Given the description of an element on the screen output the (x, y) to click on. 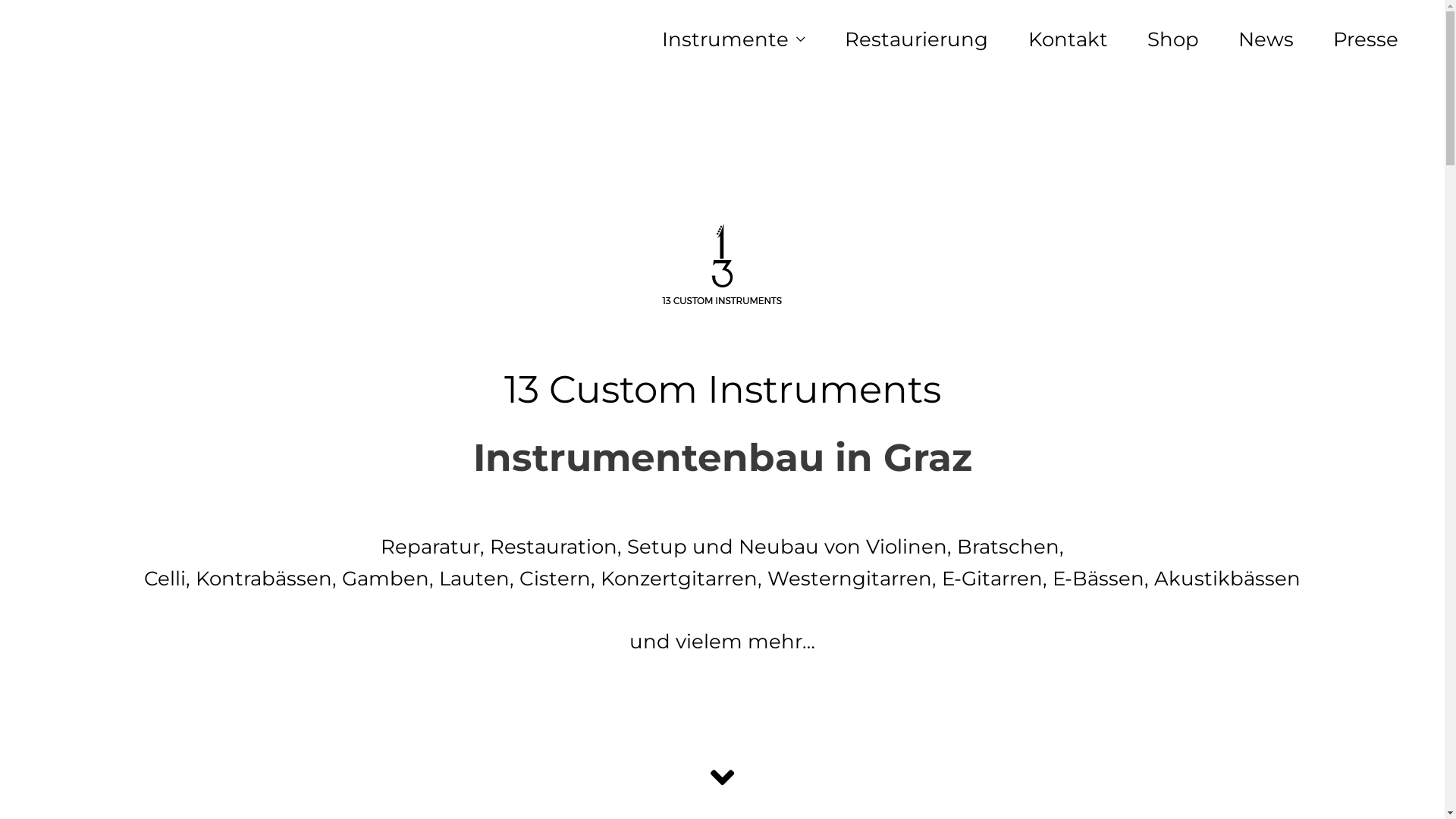
Shop Element type: text (1172, 39)
Instrumente Element type: text (733, 39)
Restaurierung Element type: text (916, 39)
News Element type: text (1265, 39)
Kontakt Element type: text (1067, 39)
Presse Element type: text (1365, 39)
